Given the description of an element on the screen output the (x, y) to click on. 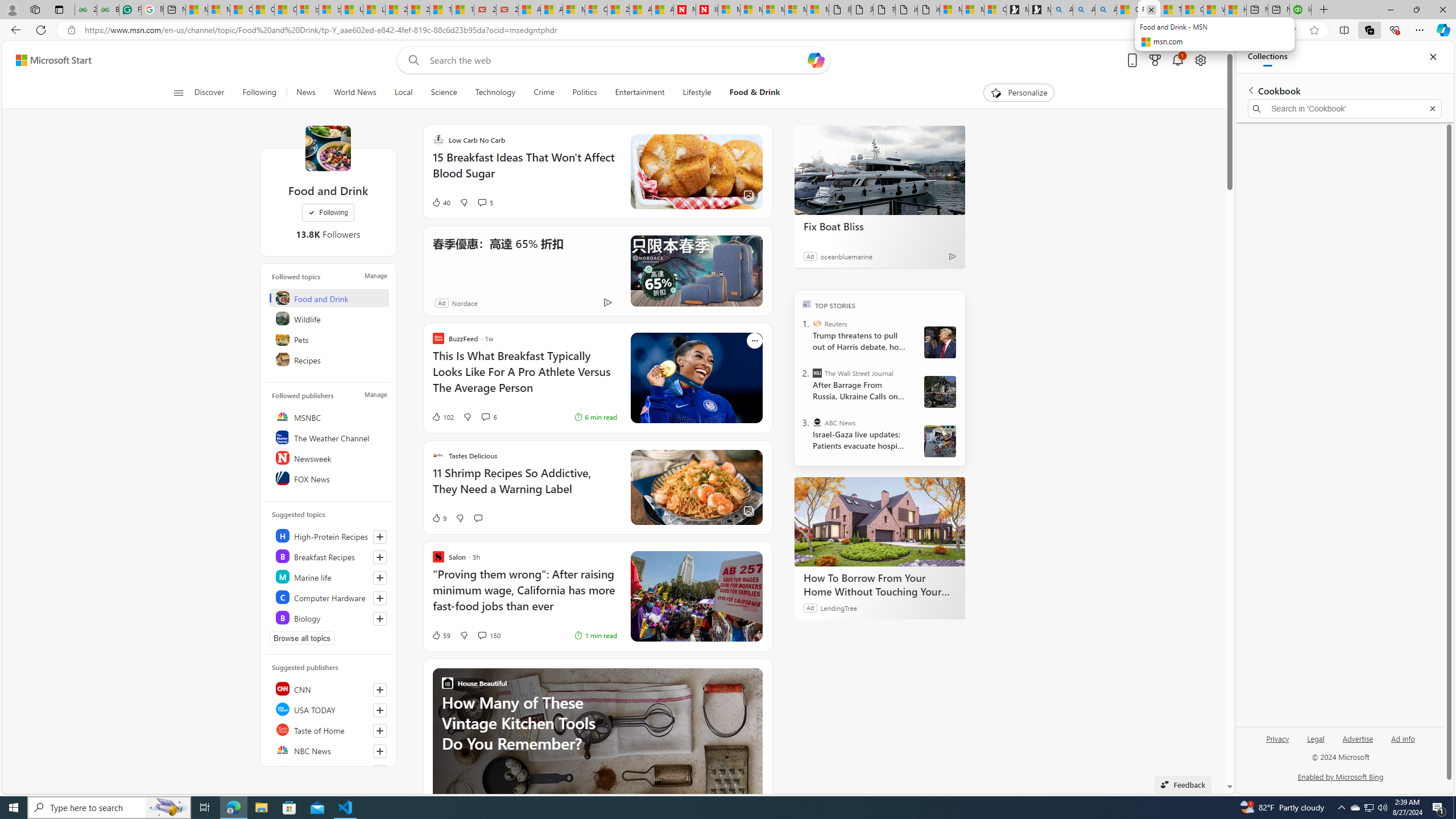
MSNBC (328, 416)
Food and Drink - MSN (1149, 9)
Taste of Home (328, 729)
15 Breakfast Ideas That Won't Affect Blood Sugar (524, 171)
9 Like (438, 517)
Pets (328, 339)
Illness news & latest pictures from Newsweek.com (706, 9)
